Given the description of an element on the screen output the (x, y) to click on. 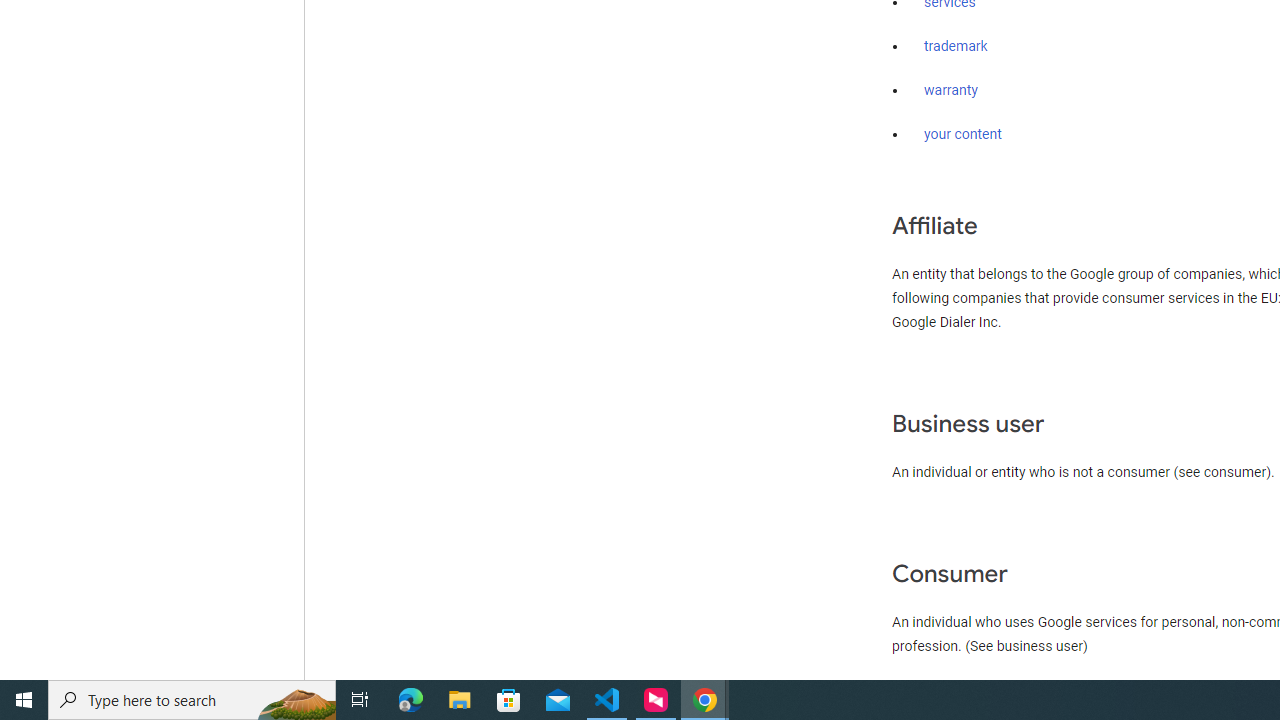
your content (963, 134)
warranty (950, 91)
trademark (956, 47)
